Given the description of an element on the screen output the (x, y) to click on. 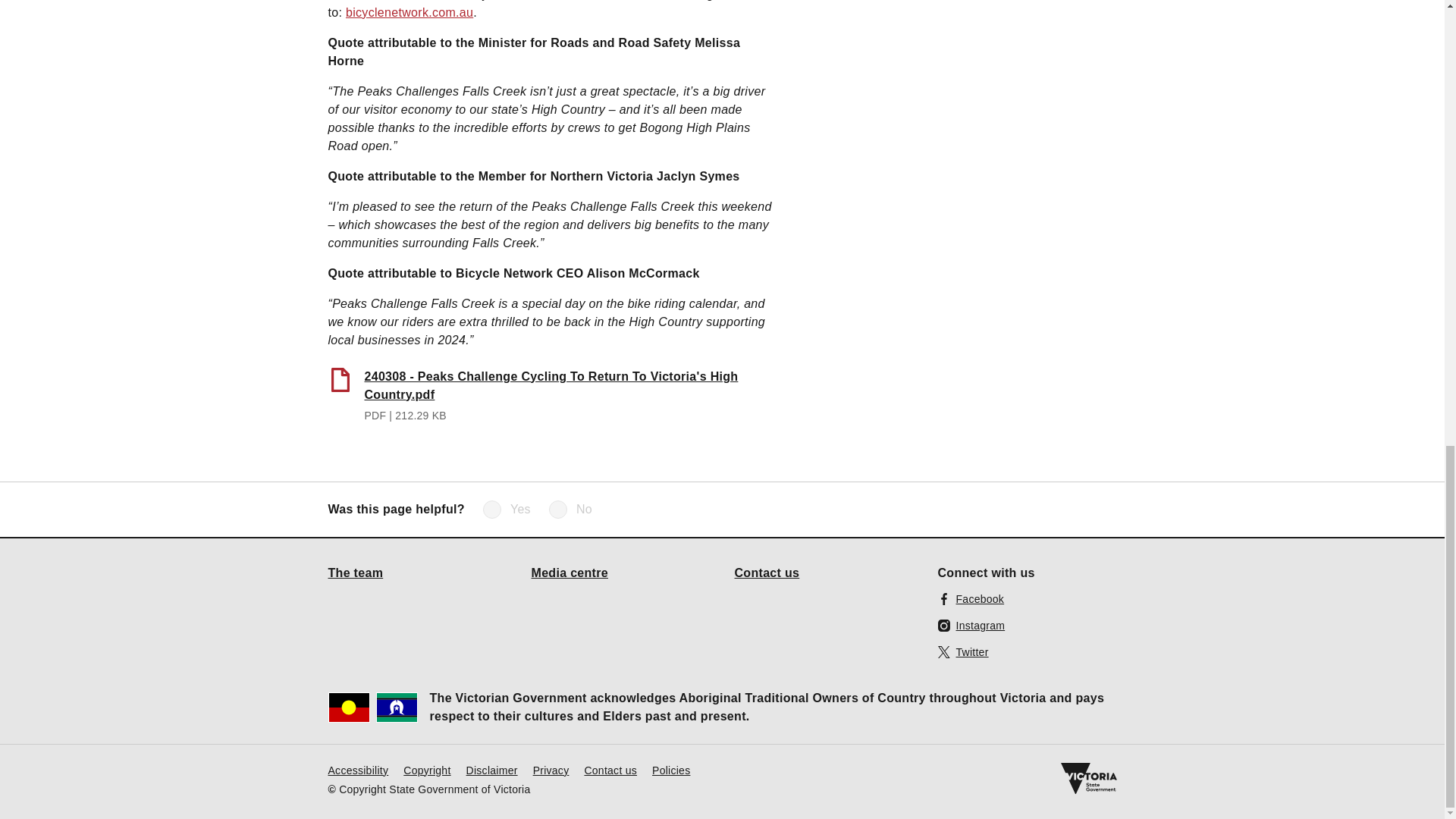
Instagram (970, 625)
Contact us (610, 769)
Contact us (766, 572)
Copyright (426, 769)
The team (354, 572)
Twitter (962, 651)
Privacy (550, 769)
Disclaimer (491, 769)
Victoria government home (1087, 778)
bicyclenetwork.com.au (409, 11)
Policies (671, 769)
Accessibility (357, 769)
Facebook (970, 598)
Media centre (569, 572)
